Given the description of an element on the screen output the (x, y) to click on. 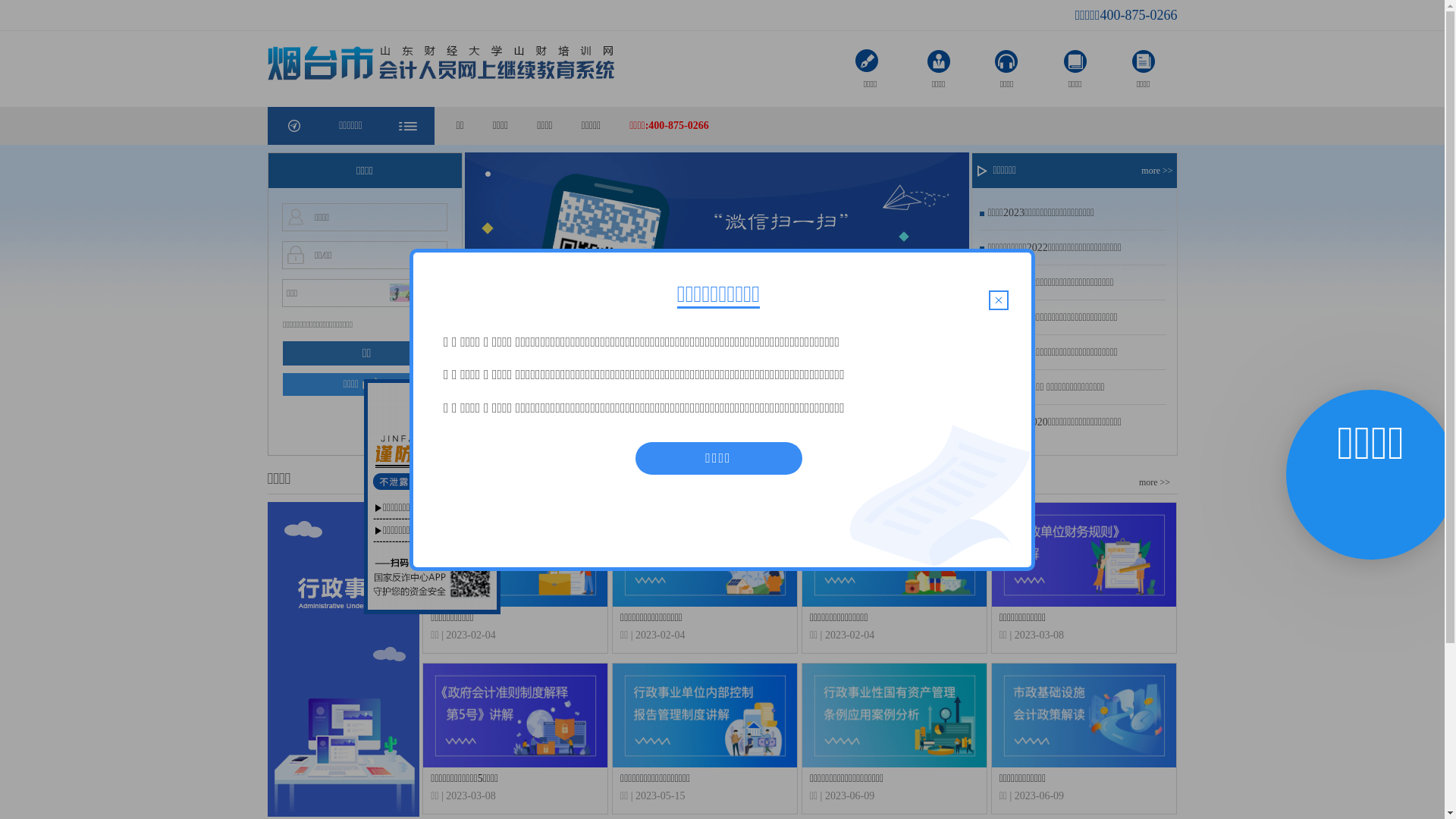
more >> Element type: text (1158, 170)
2 Element type: text (717, 438)
more >> Element type: text (1153, 482)
1 Element type: text (699, 438)
3 Element type: text (736, 438)
